Given the description of an element on the screen output the (x, y) to click on. 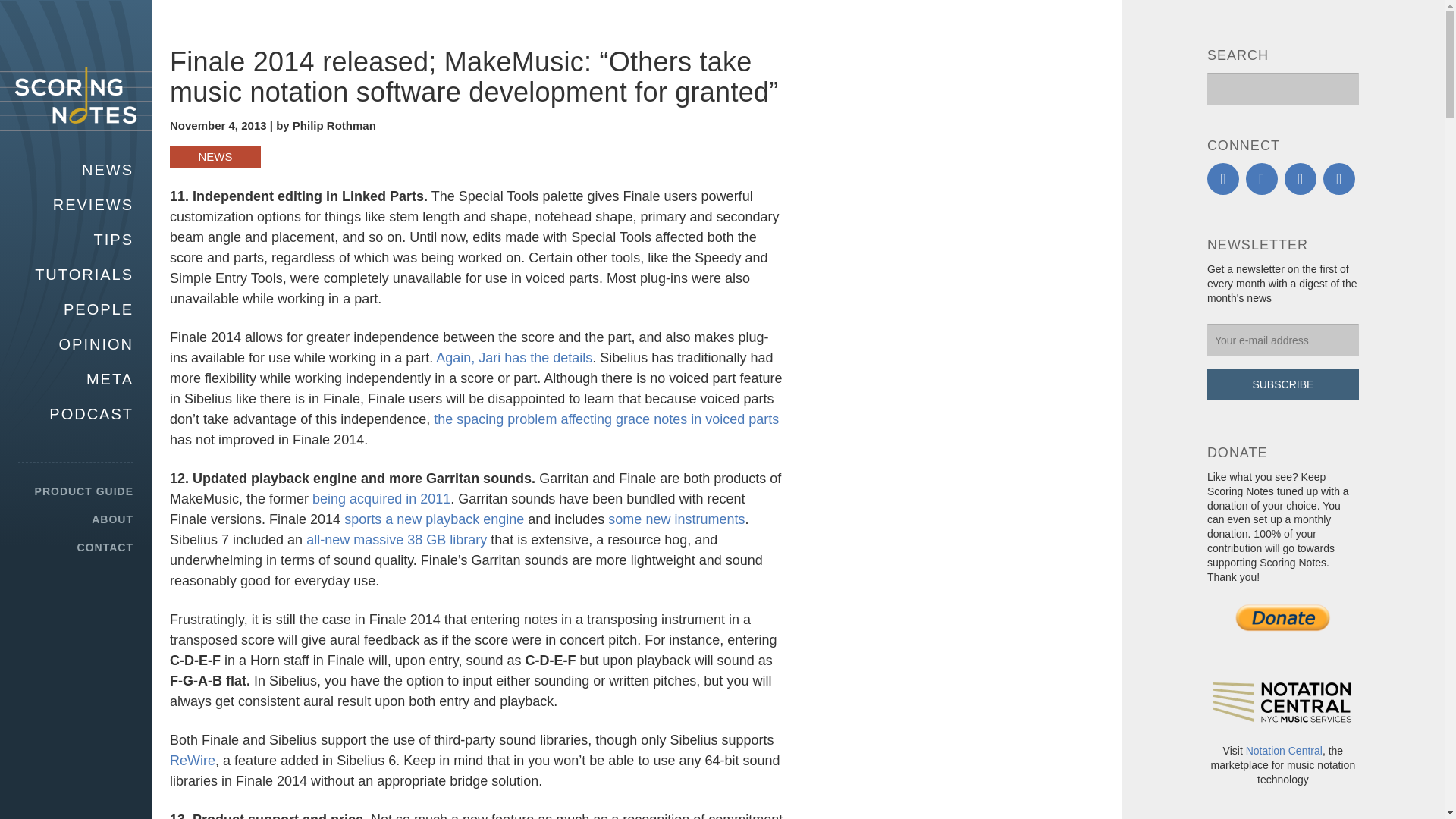
ABOUT (75, 519)
NEWS (215, 156)
META (75, 378)
CONTACT (75, 547)
the spacing problem affecting grace notes in voiced parts (605, 418)
REVIEWS (75, 204)
NEWS (75, 169)
TUTORIALS (75, 273)
TIPS (75, 239)
